Given the description of an element on the screen output the (x, y) to click on. 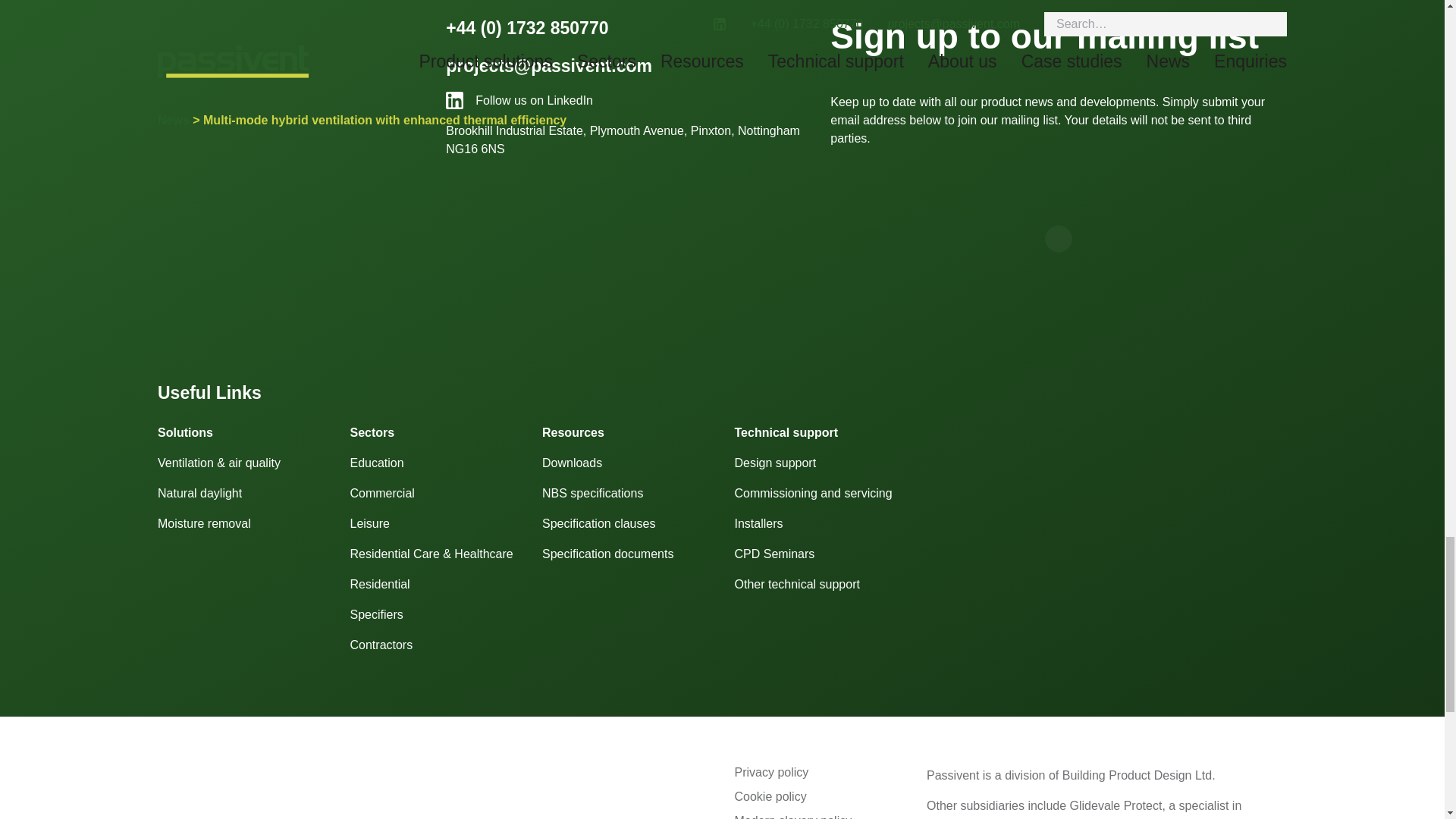
Call us (526, 27)
Email us (548, 66)
Follow us on LinkedIn (625, 100)
